Given the description of an element on the screen output the (x, y) to click on. 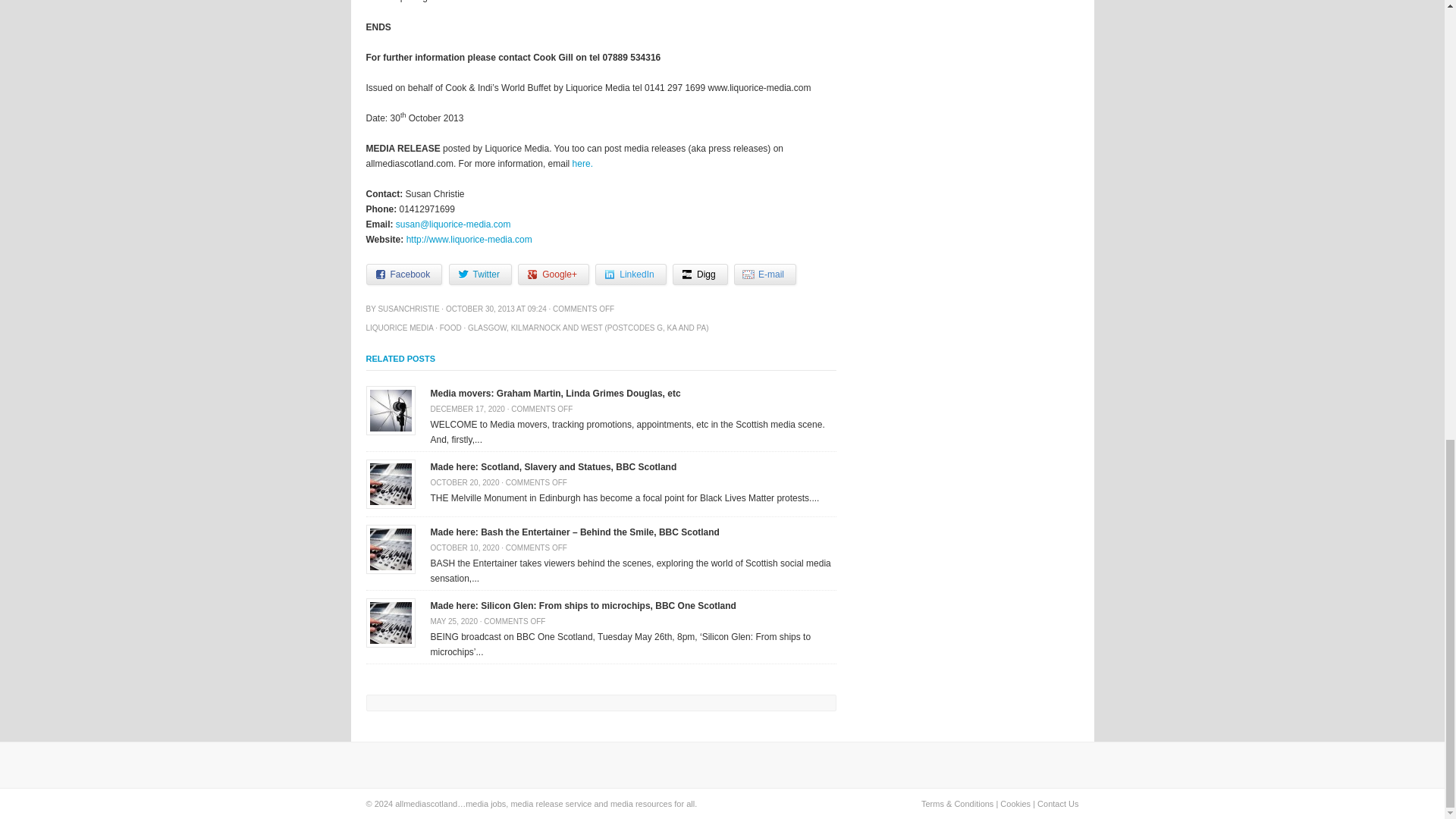
Share this article on Facebook (403, 274)
Share this article on Twitter (480, 274)
Share this article on Digg (700, 274)
Share this article on LinkedIn (630, 274)
